Given the description of an element on the screen output the (x, y) to click on. 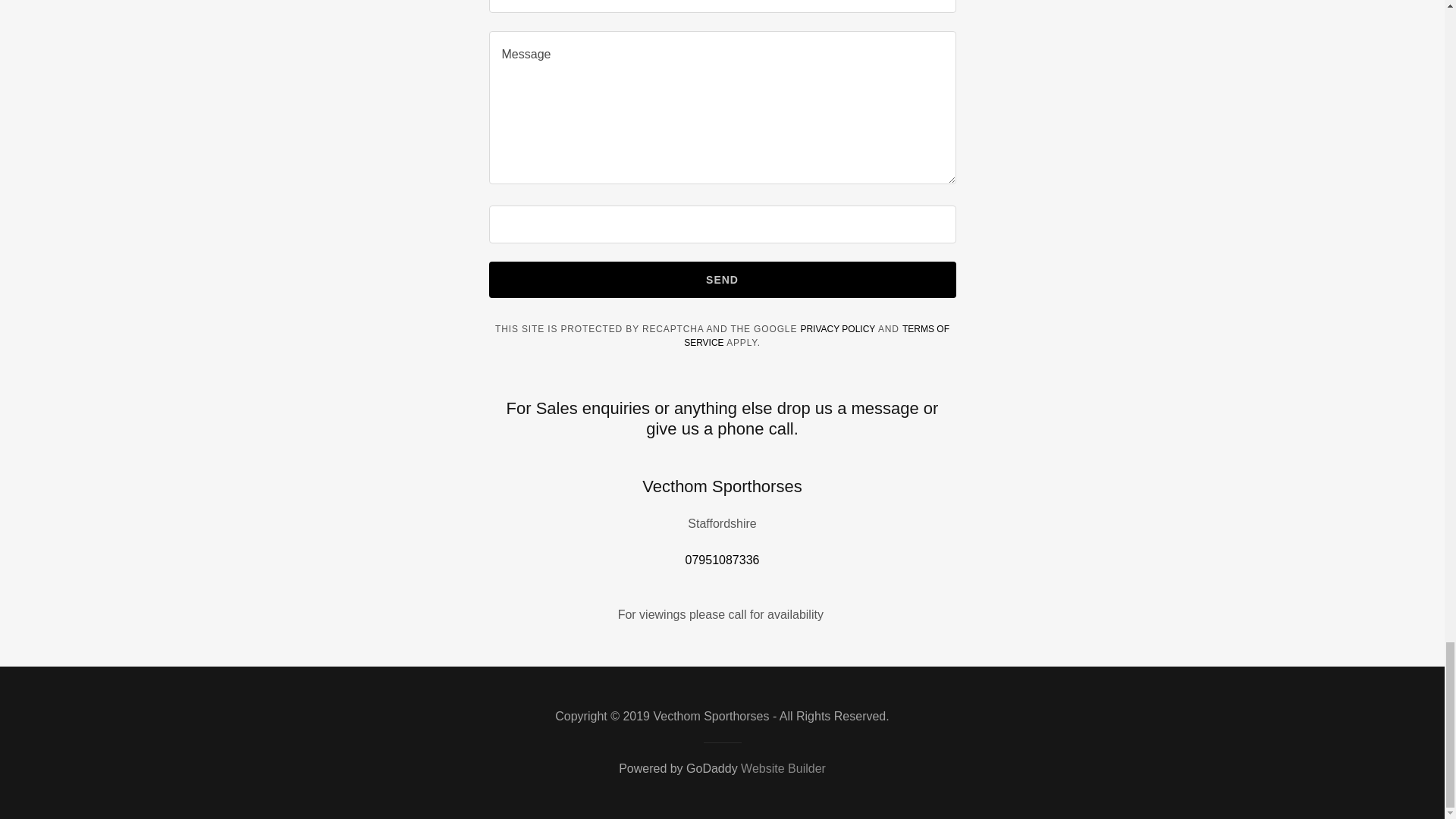
SEND (721, 279)
07951087336 (722, 559)
Website Builder (783, 768)
PRIVACY POLICY (837, 328)
TERMS OF SERVICE (816, 335)
